Given the description of an element on the screen output the (x, y) to click on. 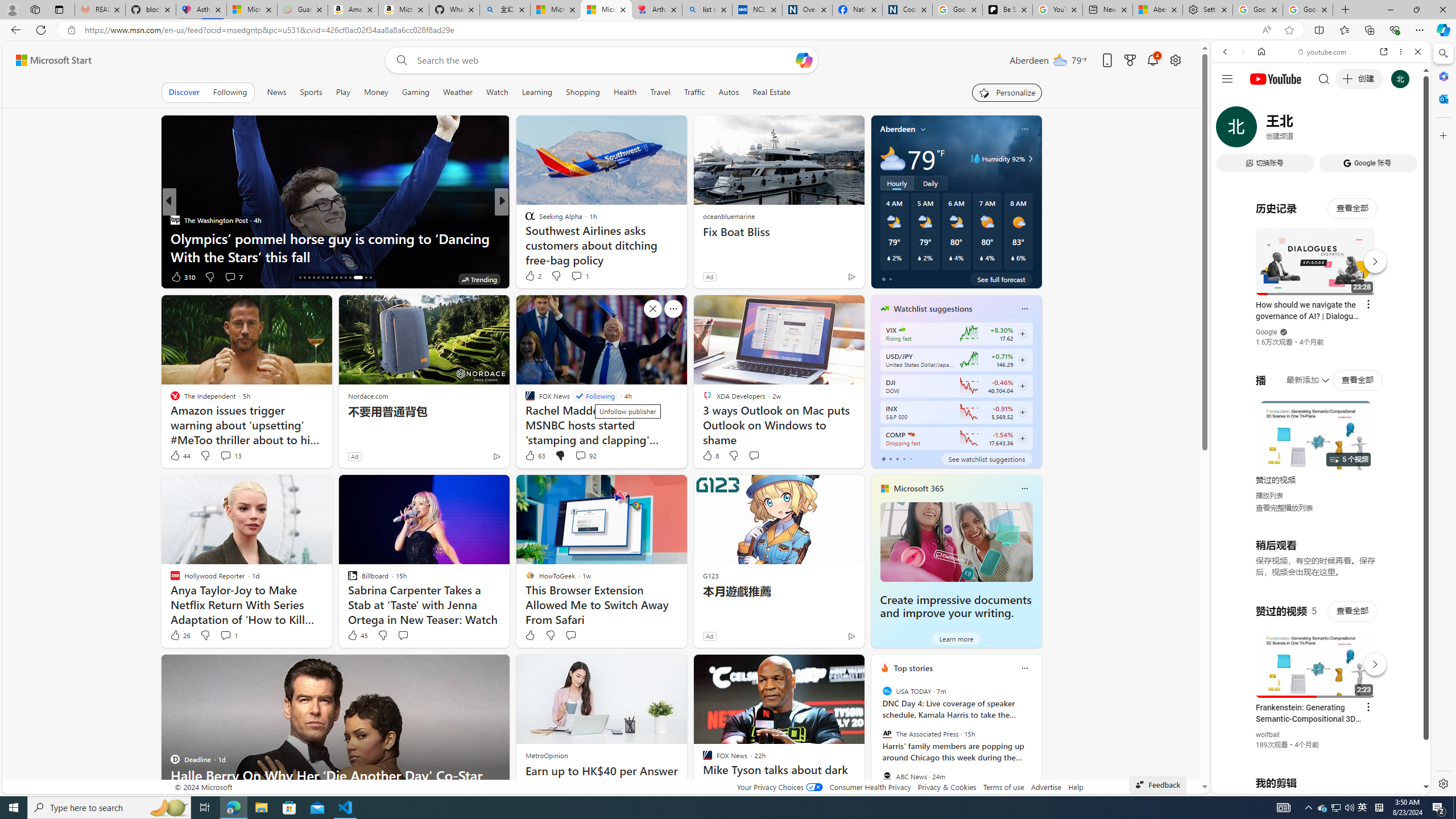
Search the web (1326, 78)
119 Like (532, 276)
youtube.com (1322, 51)
Mostly cloudy (892, 158)
Close Outlook pane (1442, 98)
Forward (1242, 51)
My location (922, 128)
tab-4 (910, 458)
Privacy & Cookies (946, 786)
View comments 3 Comment (226, 276)
